Given the description of an element on the screen output the (x, y) to click on. 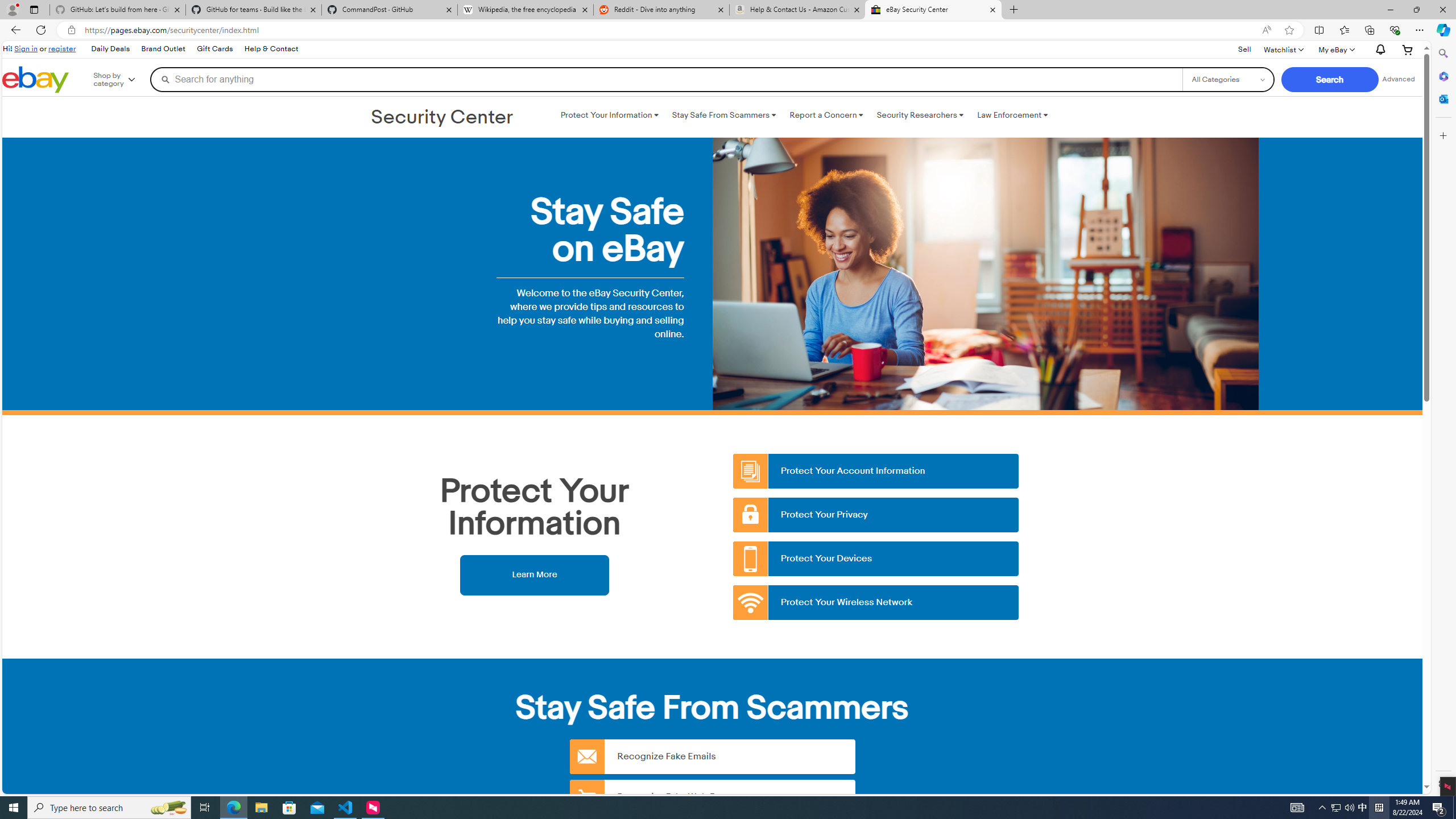
Search for anything (665, 78)
Advanced Search (1398, 78)
WatchlistExpand Watch List (1282, 49)
